Given the description of an element on the screen output the (x, y) to click on. 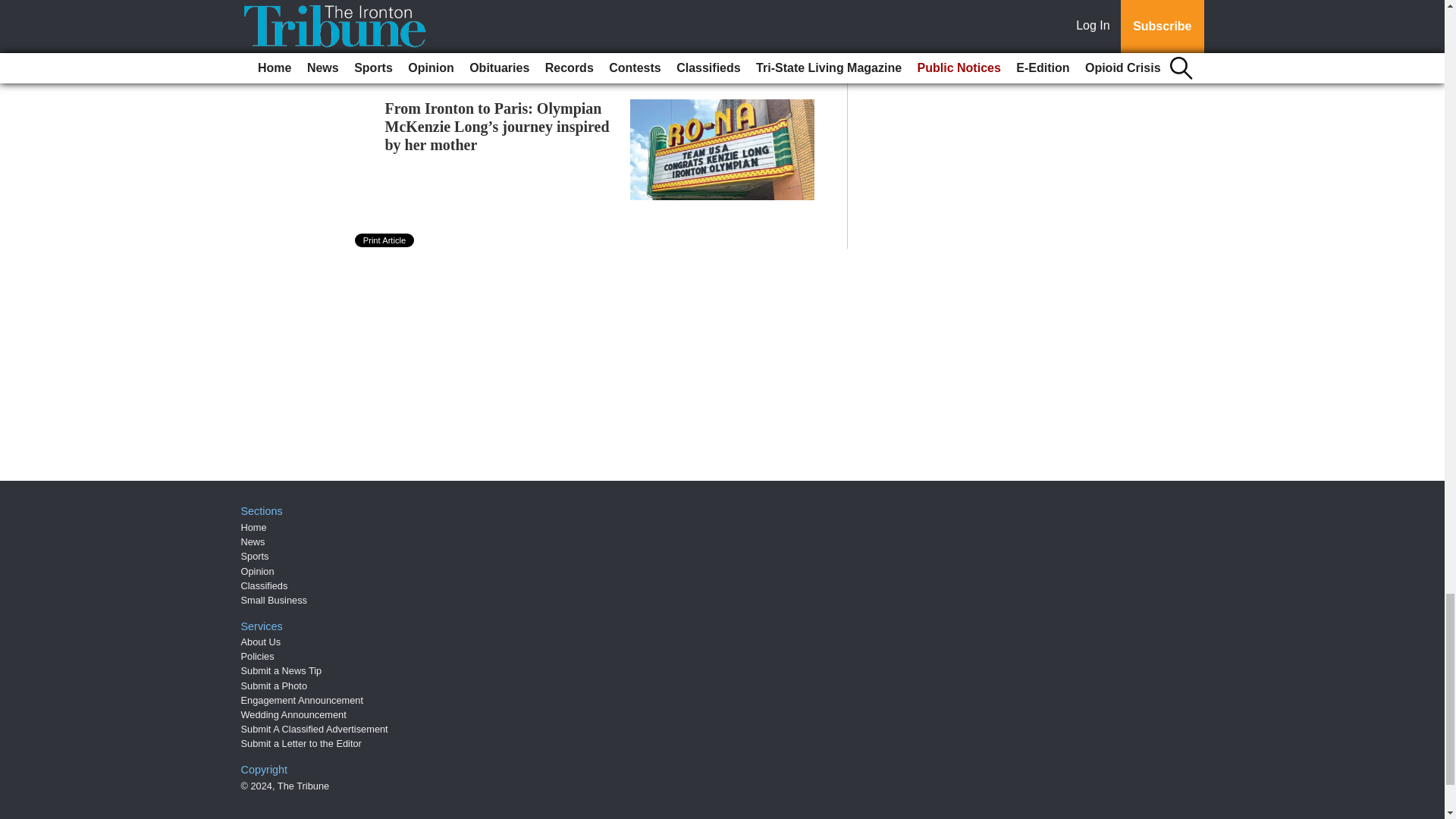
Home (253, 527)
Print Article (384, 240)
News (252, 541)
